Given the description of an element on the screen output the (x, y) to click on. 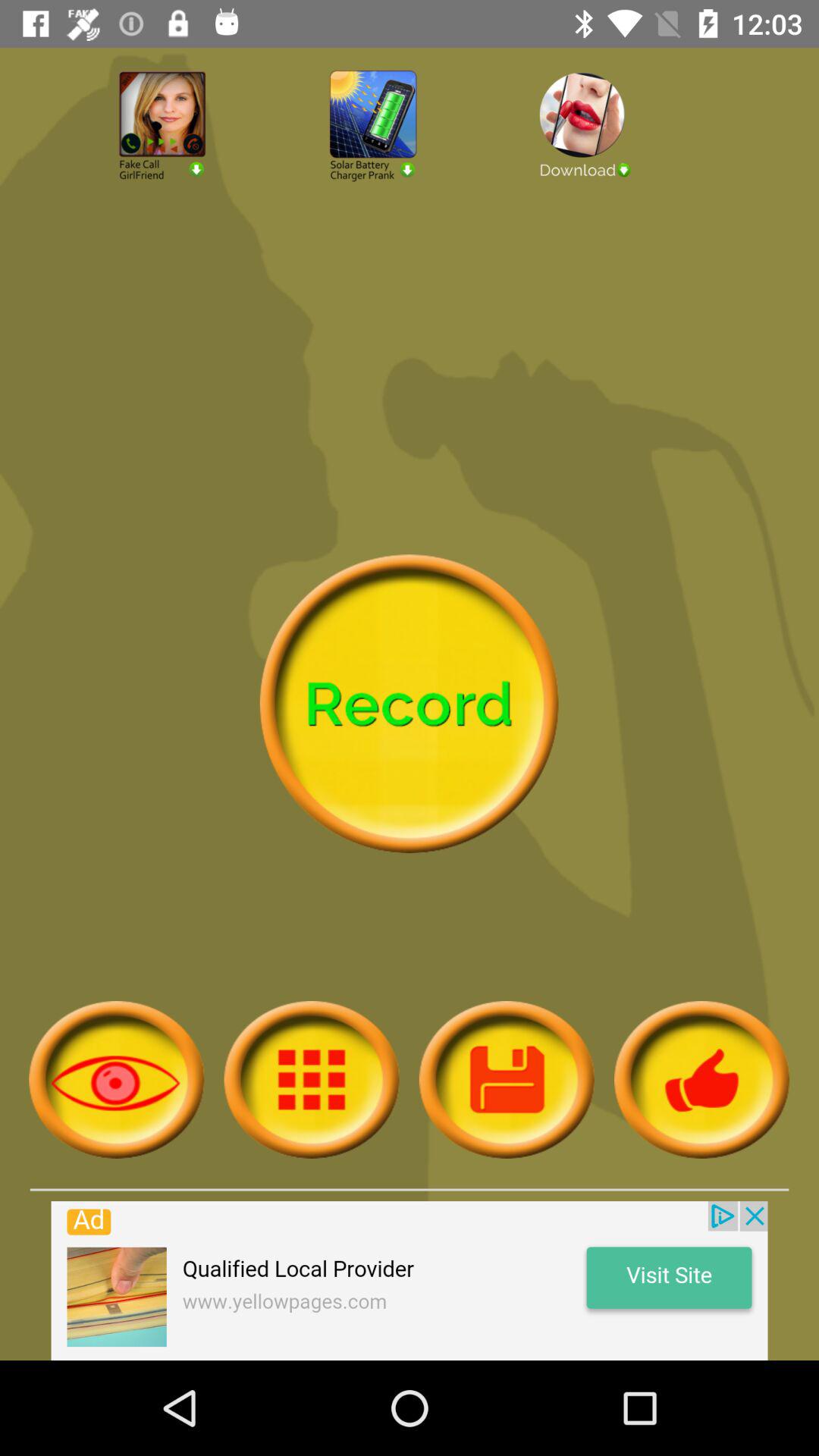
icon page (116, 1079)
